Given the description of an element on the screen output the (x, y) to click on. 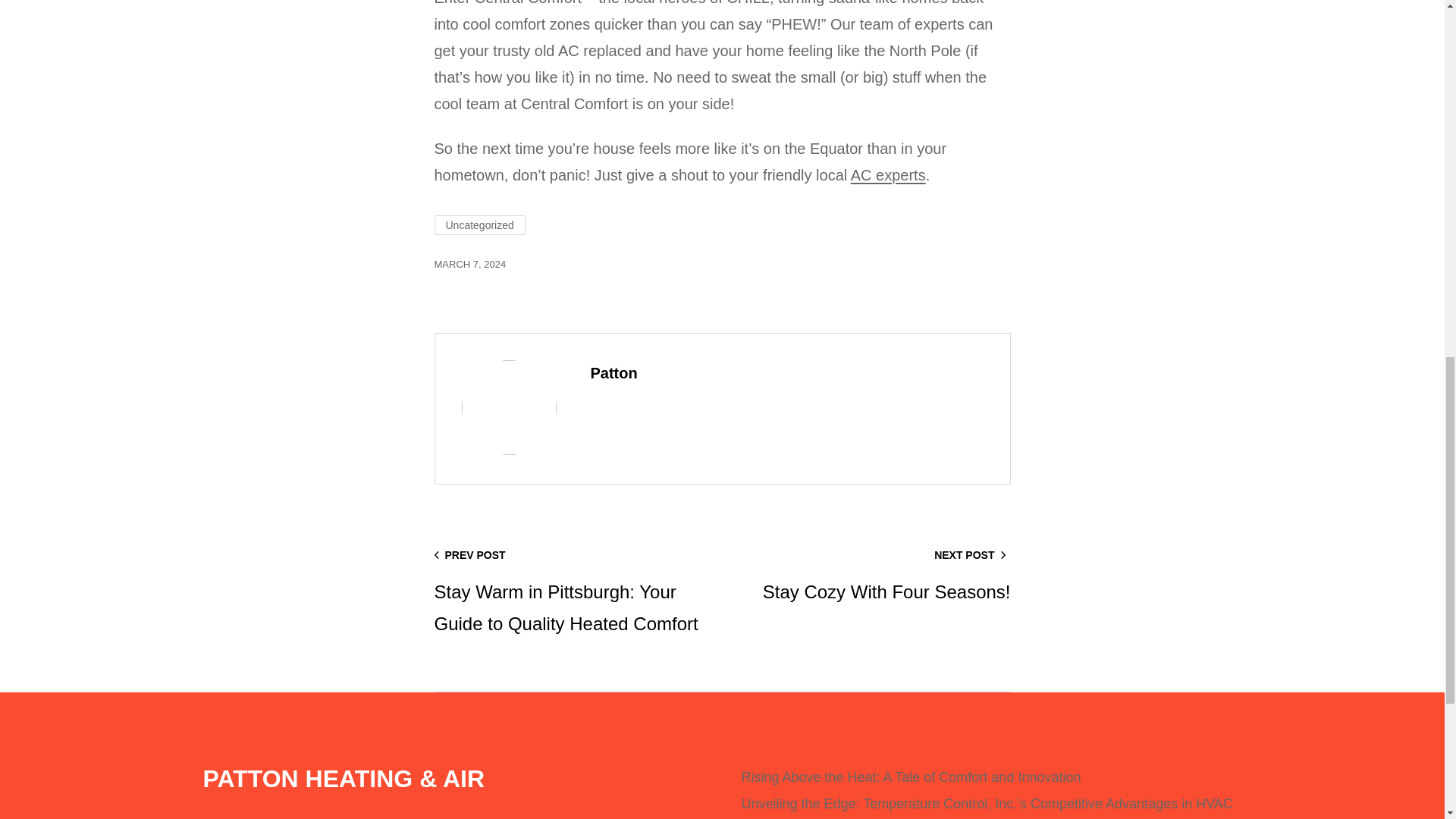
AC experts (870, 574)
MARCH 7, 2024 (888, 175)
Uncategorized (469, 264)
Rising Above the Heat: A Tale of Comfort and Innovation (478, 225)
